Given the description of an element on the screen output the (x, y) to click on. 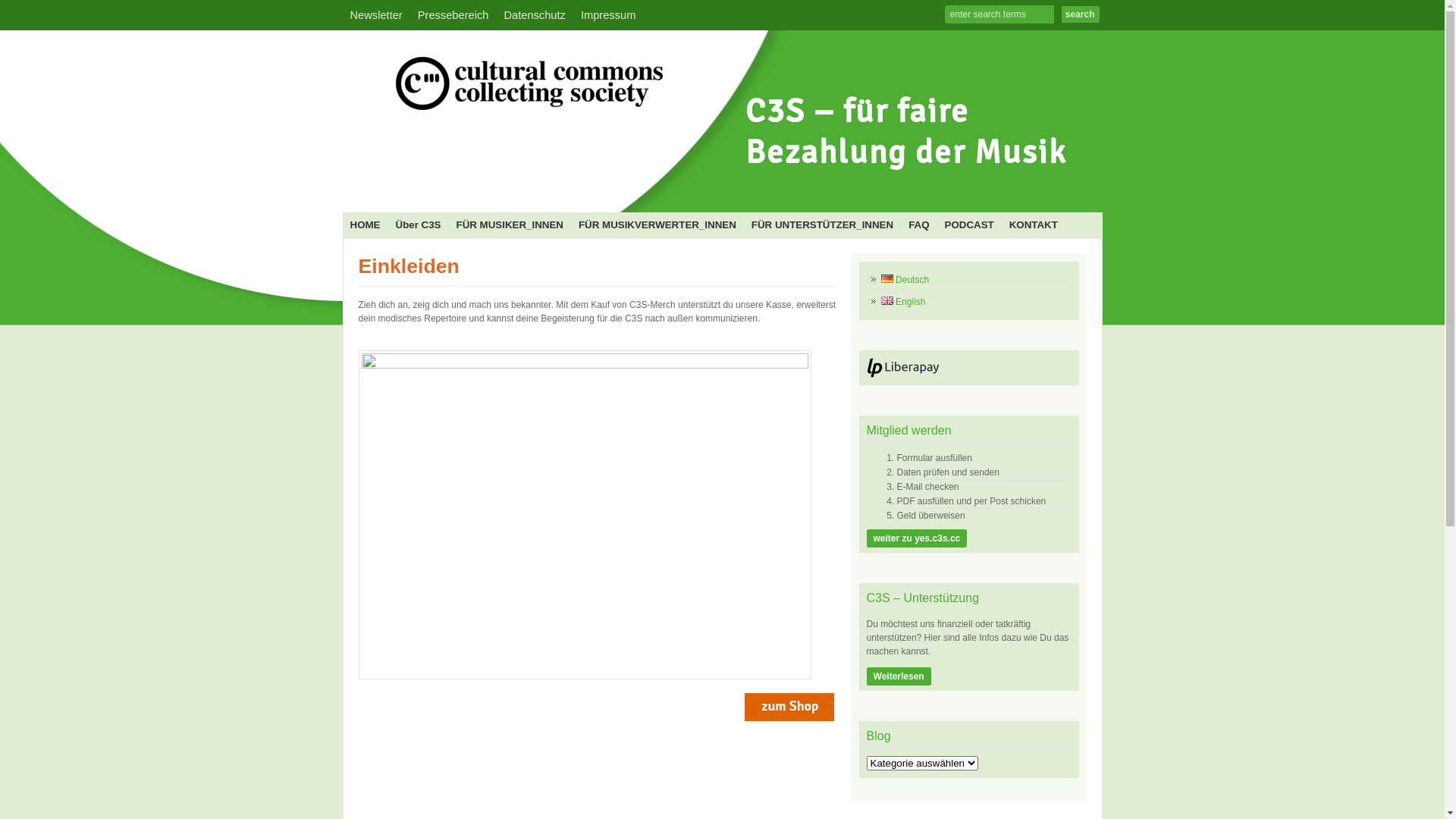
English Element type: text (903, 301)
Deutsch Element type: text (905, 279)
weiter zu yes.c3s.cc Element type: text (916, 538)
Datenschutz Element type: text (533, 15)
Pressebereich Element type: text (453, 15)
FAQ Element type: text (918, 225)
Weiterlesen Element type: text (898, 676)
HOME Element type: text (365, 225)
C3S Element type: hover (717, 186)
KONTAKT Element type: text (1033, 225)
PODCAST Element type: text (969, 225)
search Element type: text (1080, 14)
Impressum Element type: text (608, 15)
Newsletter Element type: text (376, 15)
